Given the description of an element on the screen output the (x, y) to click on. 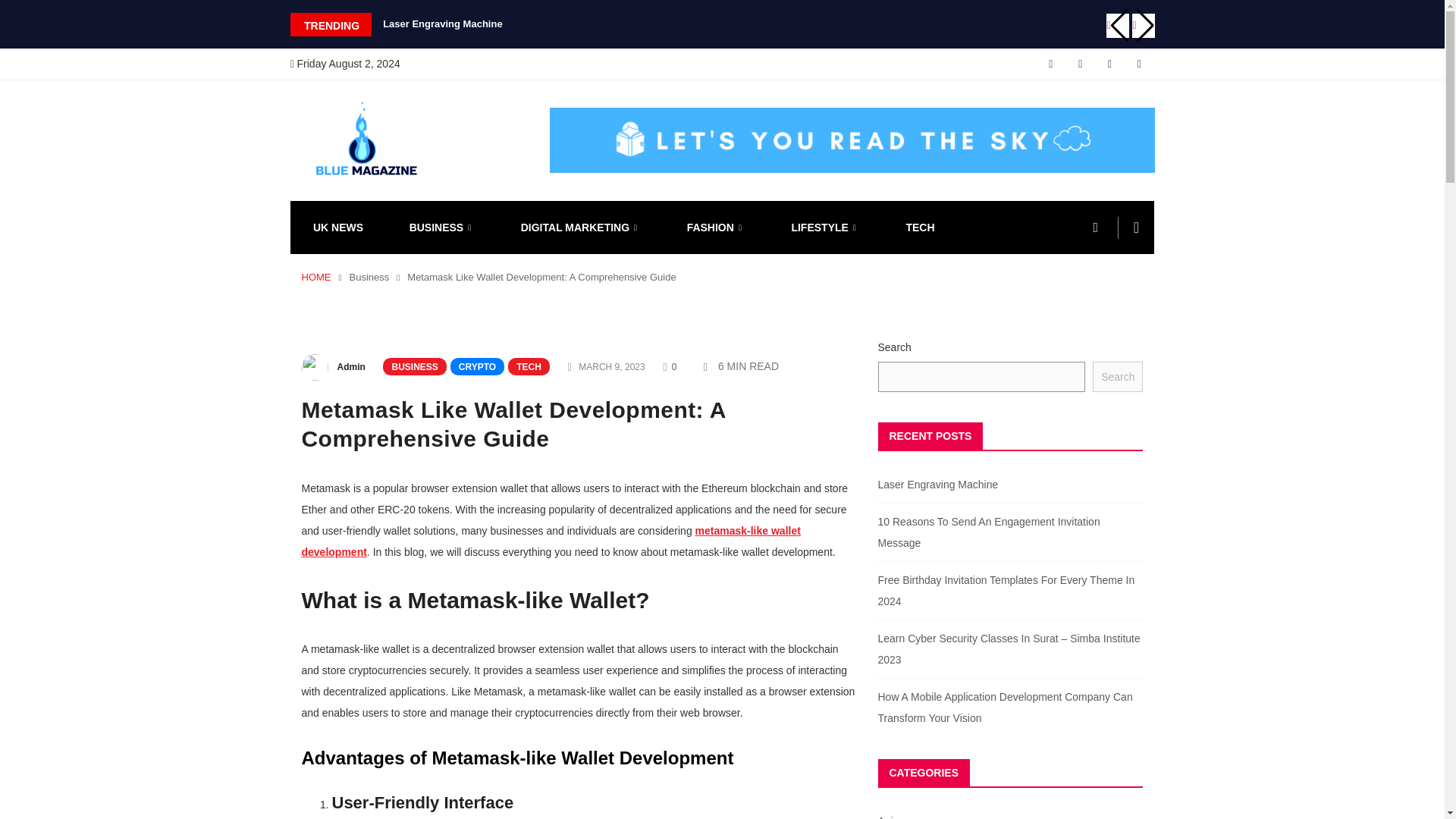
Admin (350, 366)
TECH (920, 226)
BUSINESS (413, 366)
BUSINESS (441, 226)
FASHION (715, 226)
Laser Engraving Machine (442, 23)
DIGITAL MARKETING (580, 226)
metamask-like wallet development (550, 540)
TECH (529, 366)
UK NEWS (337, 226)
HOME (316, 276)
CRYPTO (476, 366)
LIFESTYLE (825, 226)
